Given the description of an element on the screen output the (x, y) to click on. 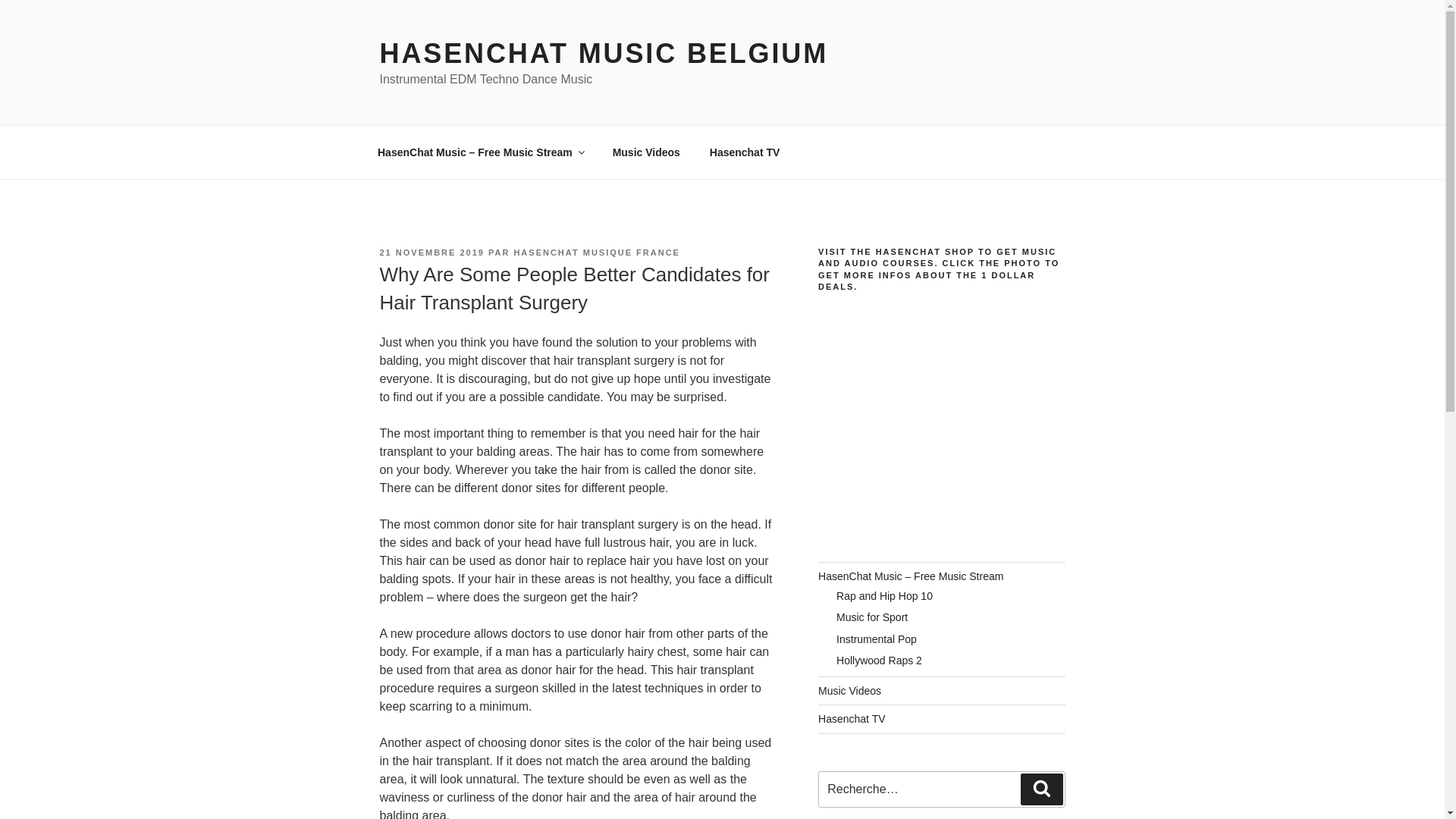
Recherche (1041, 789)
Hollywood Raps 2 (878, 660)
Hasenchat TV (744, 151)
Music for Sport (871, 616)
HASENCHAT MUSIC BELGIUM (603, 52)
21 NOVEMBRE 2019 (430, 252)
Music Videos (645, 151)
HASENCHAT MUSIQUE FRANCE (596, 252)
Instrumental Pop (876, 639)
Hasenchat TV (851, 718)
Music Videos (849, 690)
Rap and Hip Hop 10 (884, 595)
